Given the description of an element on the screen output the (x, y) to click on. 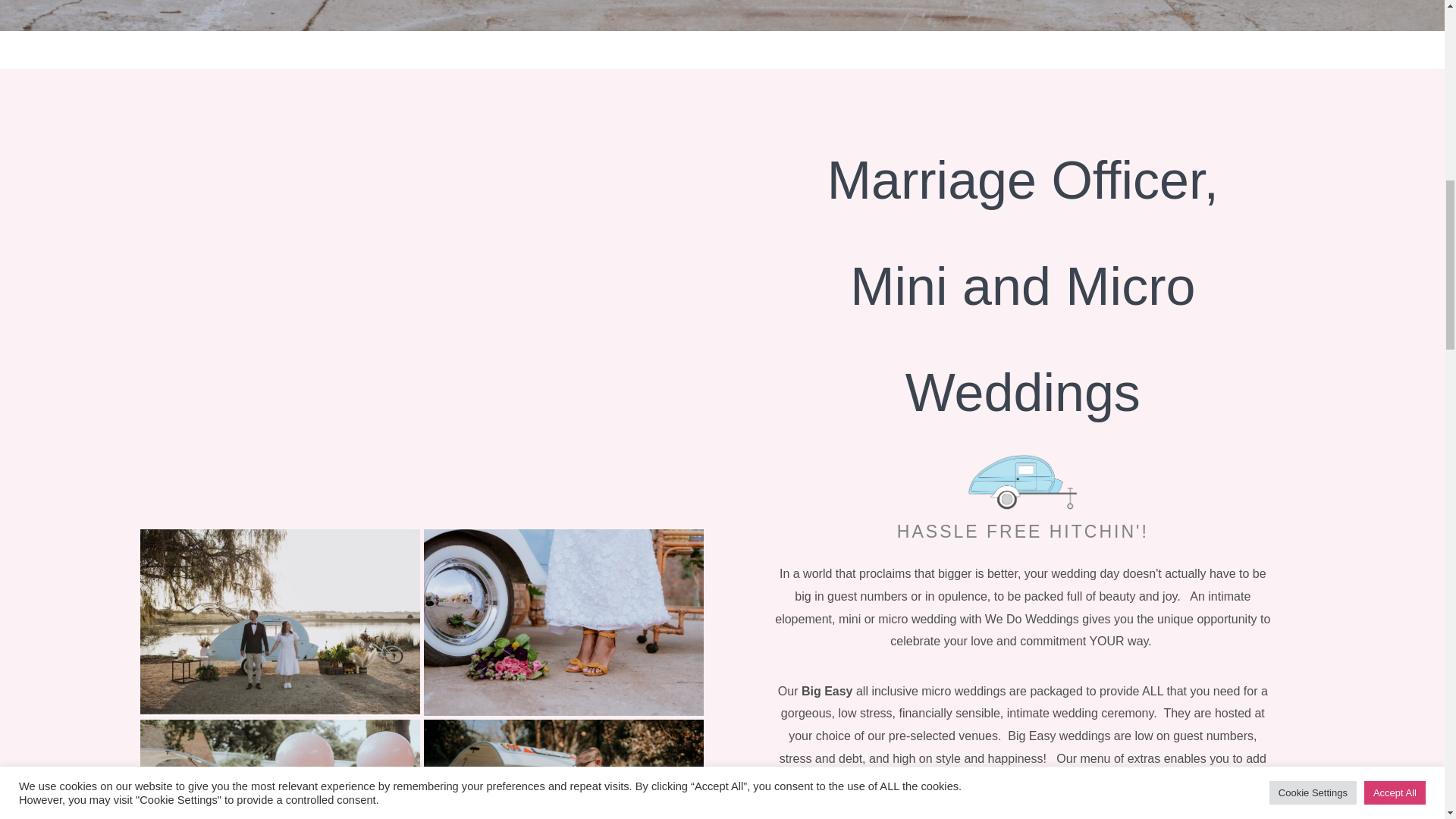
Micro Wedding (563, 622)
M and O (279, 769)
Modern Weddings (563, 769)
Micro Wedding (279, 622)
